Given the description of an element on the screen output the (x, y) to click on. 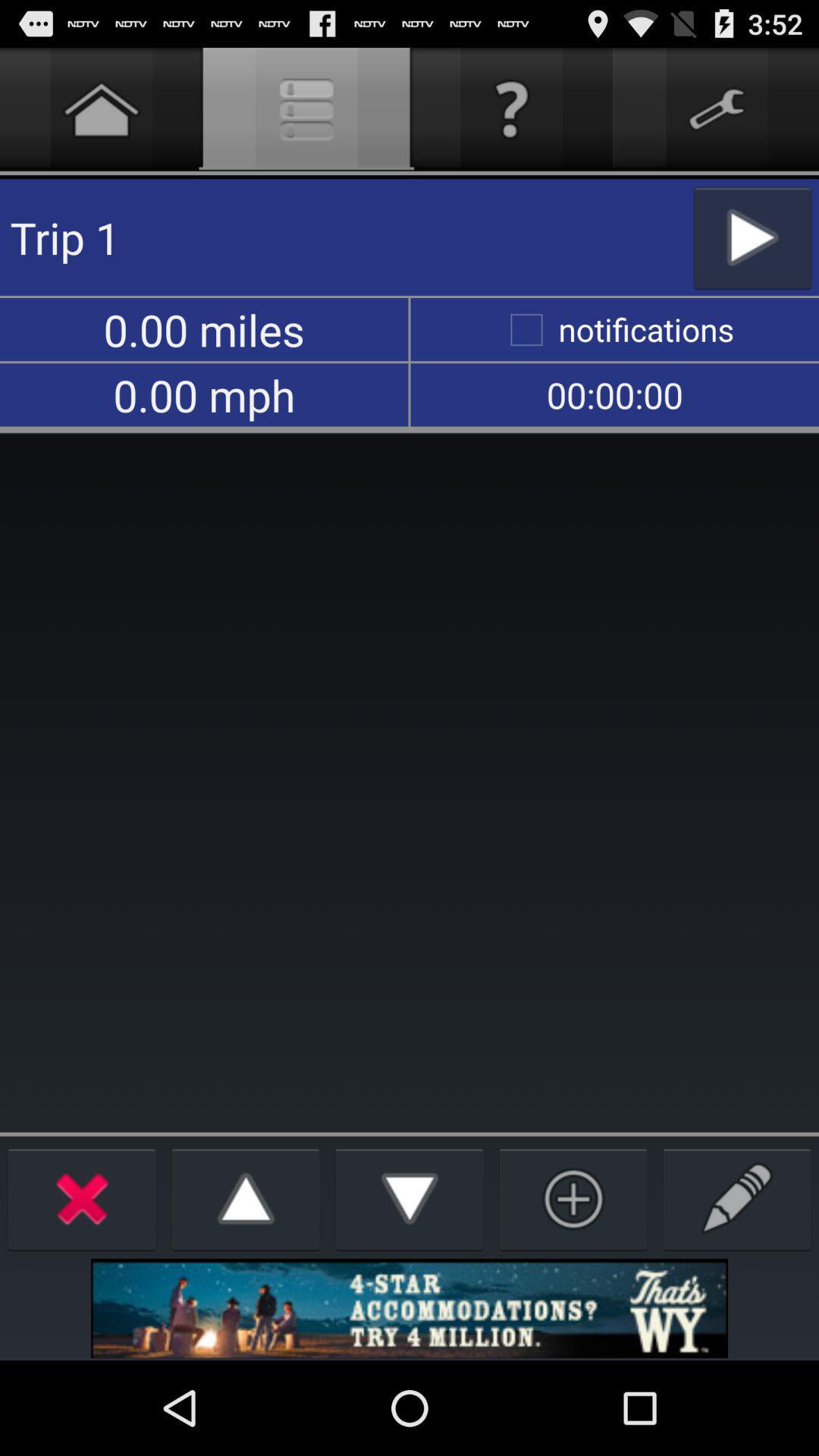
up (245, 1198)
